Given the description of an element on the screen output the (x, y) to click on. 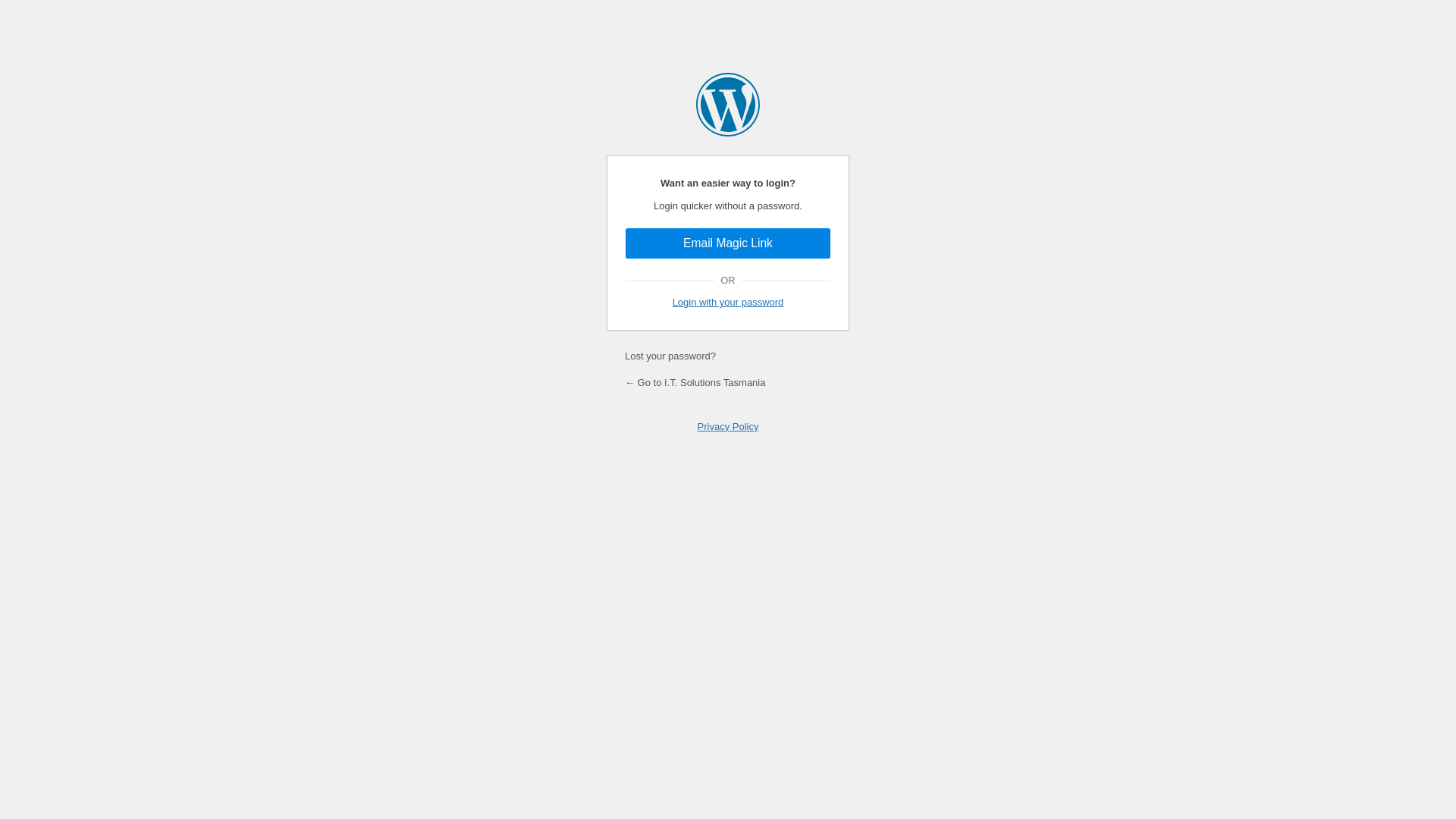
Email Magic Link Element type: text (727, 243)
Login with your password Element type: text (728, 301)
Powered by WordPress Element type: text (727, 104)
Privacy Policy Element type: text (728, 426)
Lost your password? Element type: text (669, 355)
